Given the description of an element on the screen output the (x, y) to click on. 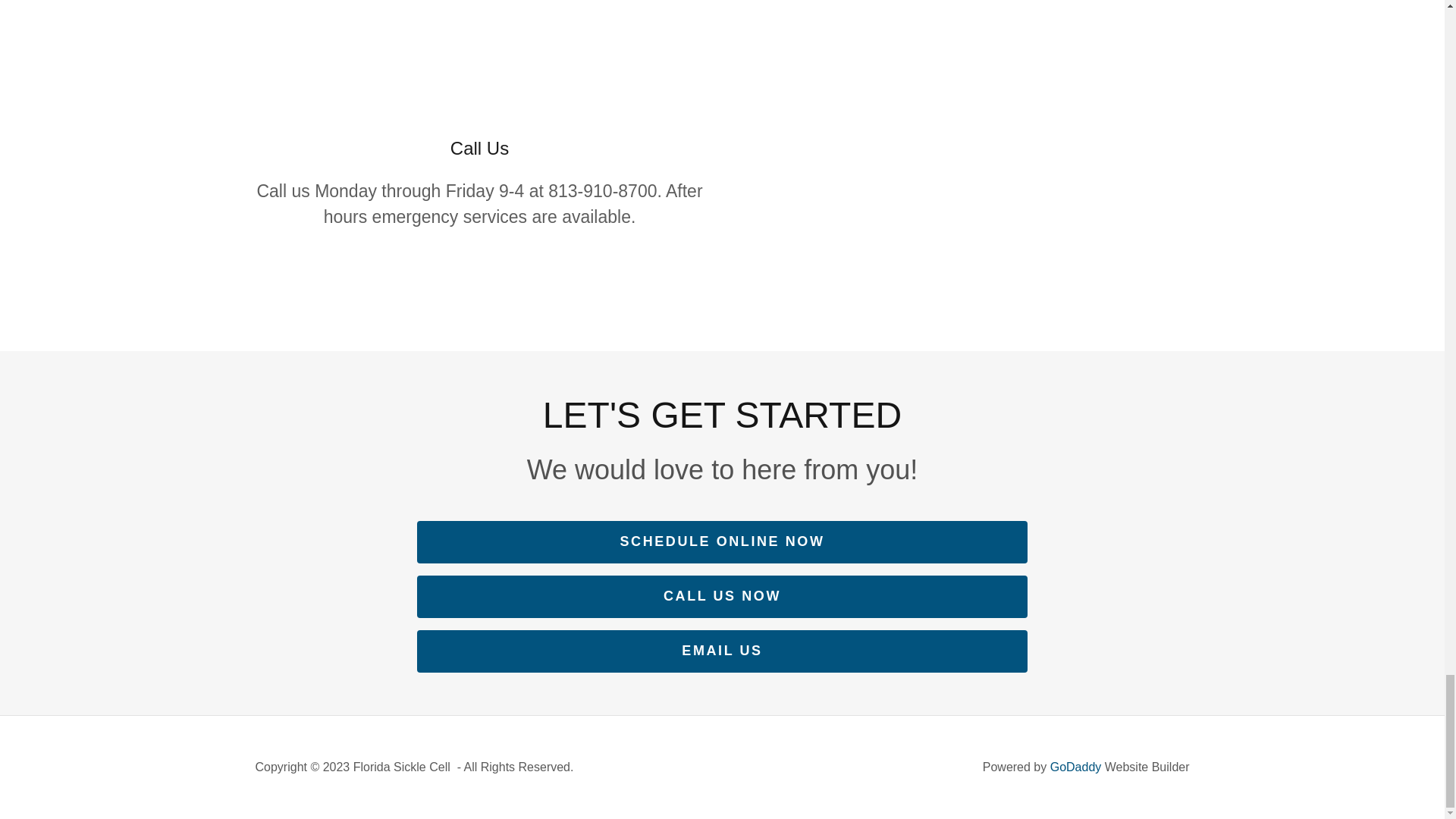
SCHEDULE ONLINE NOW (721, 541)
CALL US NOW (721, 596)
GoDaddy (1075, 766)
EMAIL US (721, 650)
